Given the description of an element on the screen output the (x, y) to click on. 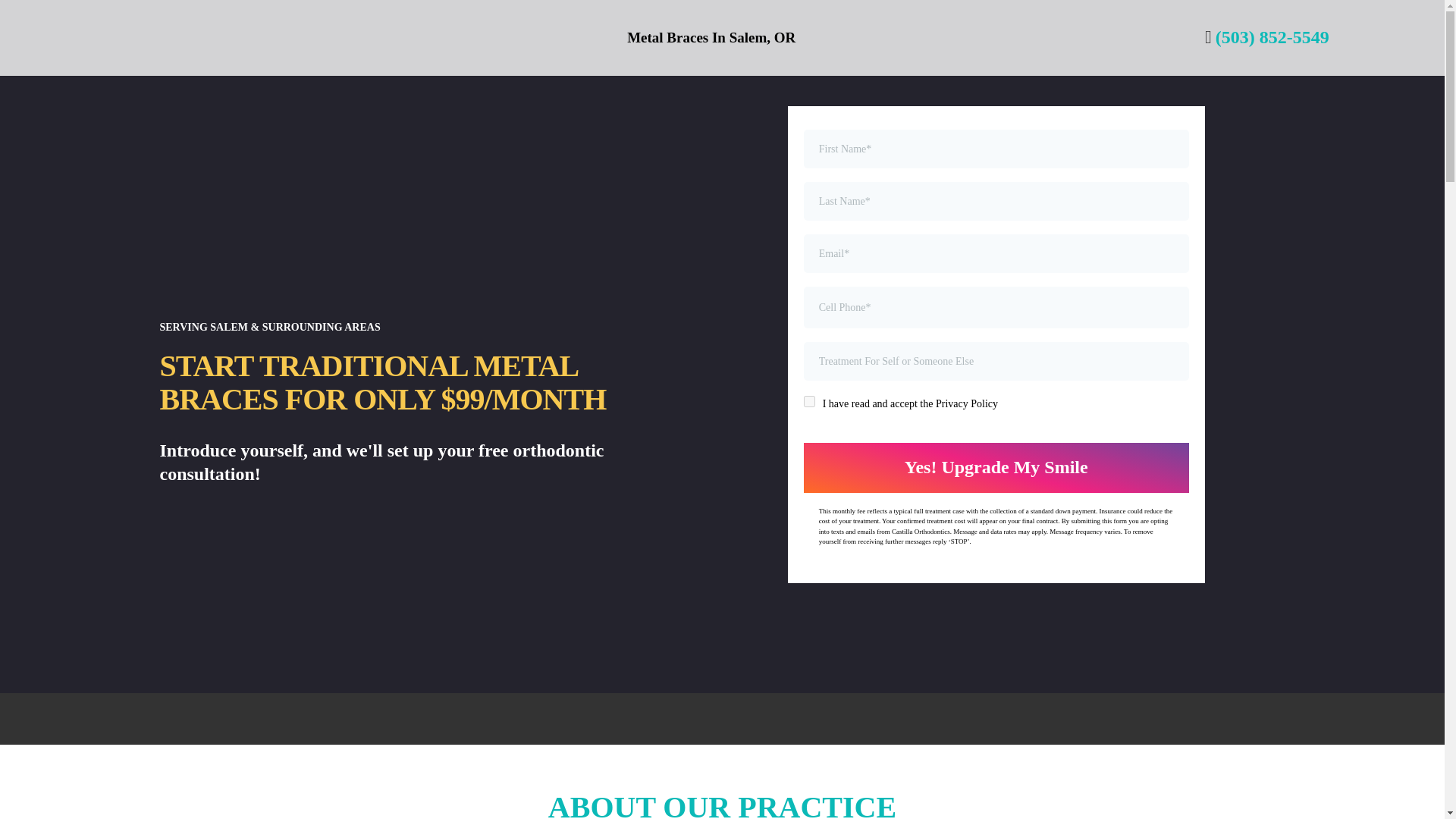
Yes! Upgrade My Smile (996, 467)
I have read and accept the Privacy Policy (809, 401)
